Given the description of an element on the screen output the (x, y) to click on. 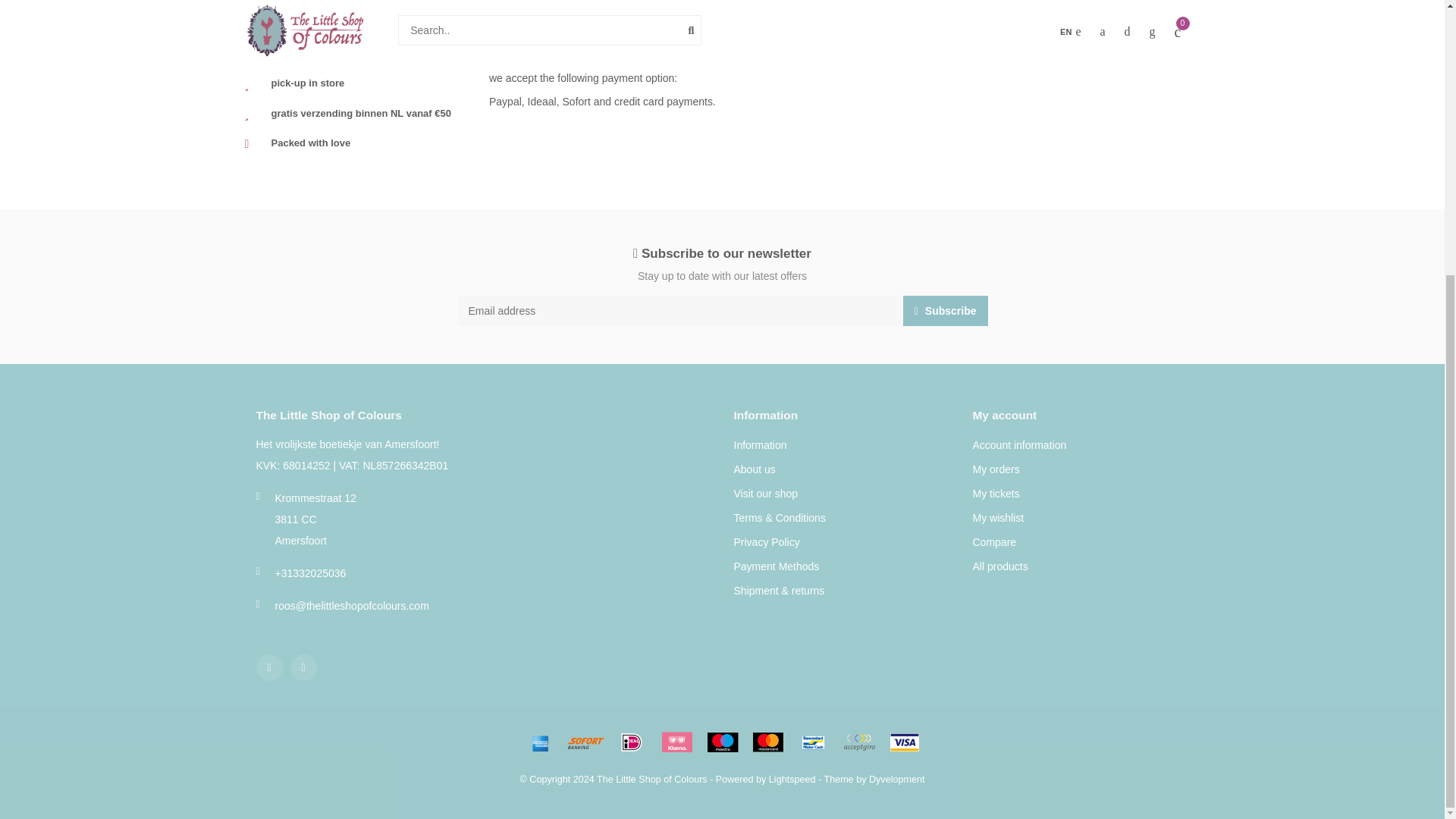
My orders (995, 469)
Account information (1018, 445)
Information (760, 445)
Payment Methods (354, 2)
My wishlist (997, 518)
My tickets (995, 494)
Compare (994, 542)
About us (754, 469)
Visit our shop (765, 494)
Payment Methods (776, 567)
Privacy Policy (766, 542)
